Given the description of an element on the screen output the (x, y) to click on. 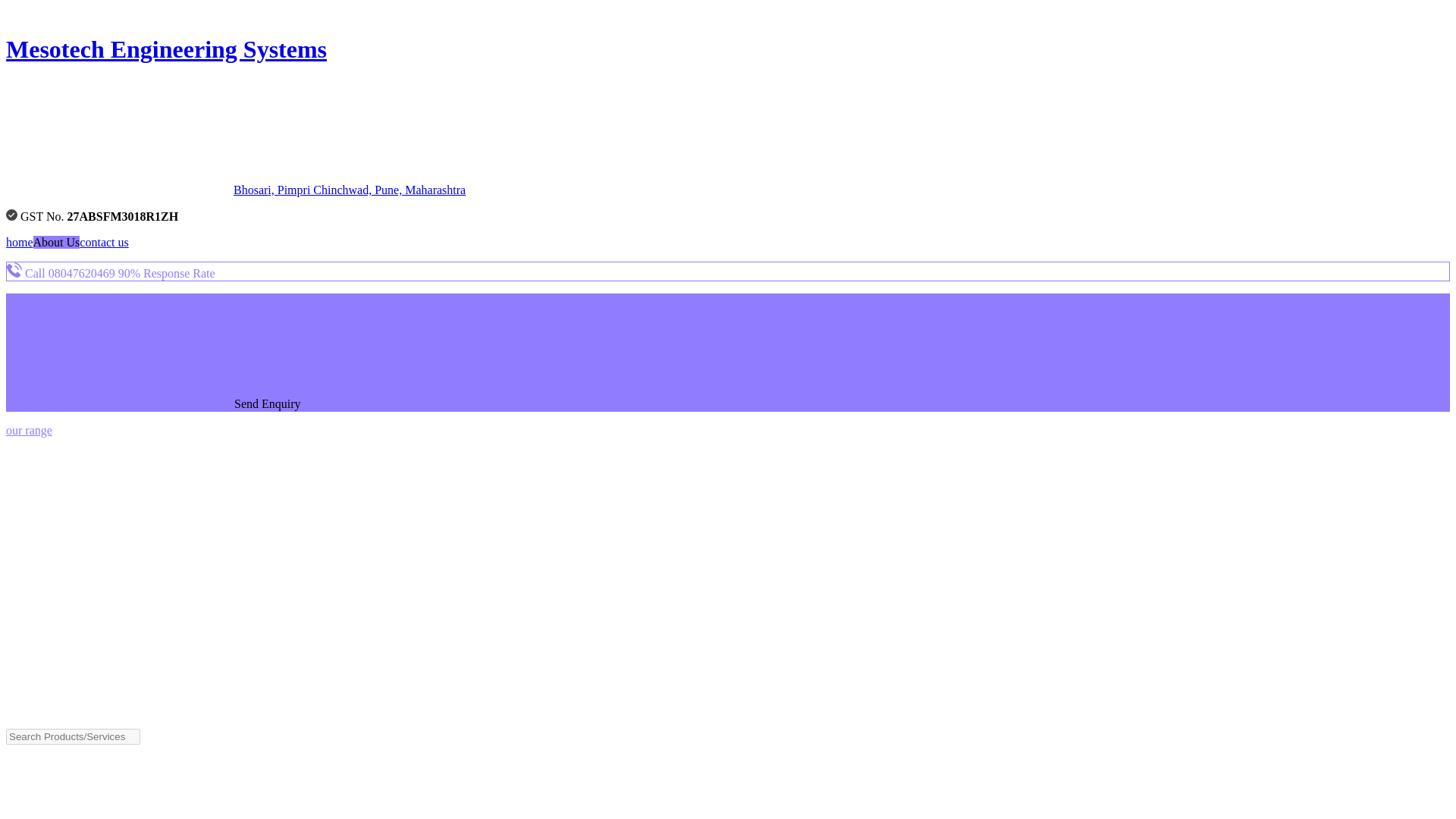
our range (28, 430)
contact us (104, 241)
home (19, 241)
